Given the description of an element on the screen output the (x, y) to click on. 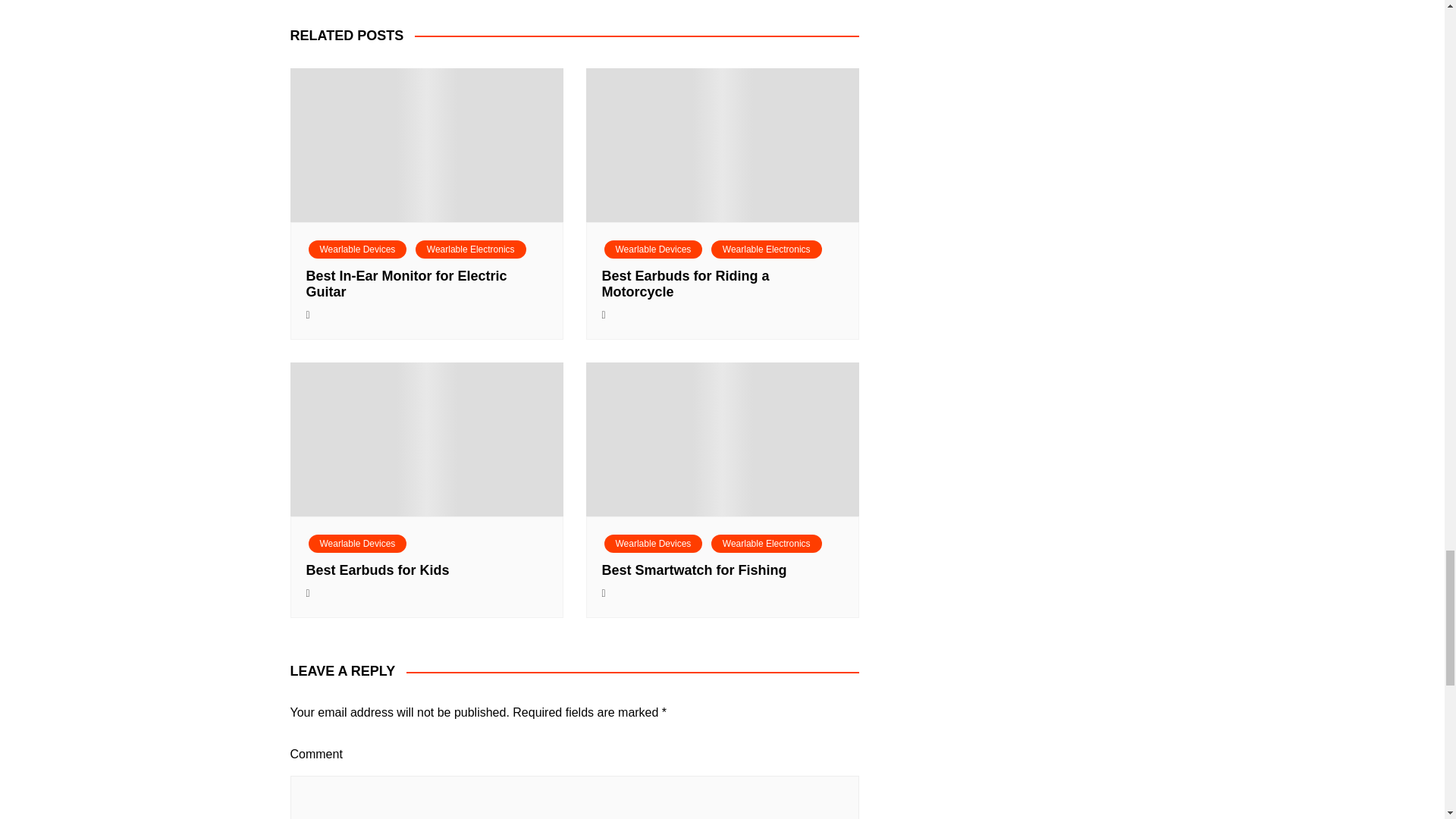
Wearlable Devices (652, 249)
Best Earbuds for Riding a Motorcycle (686, 284)
Wearlable Devices (356, 249)
Best In-Ear Monitor for Electric Guitar (405, 284)
Wearlable Electronics (469, 249)
Wearlable Electronics (766, 249)
